Given the description of an element on the screen output the (x, y) to click on. 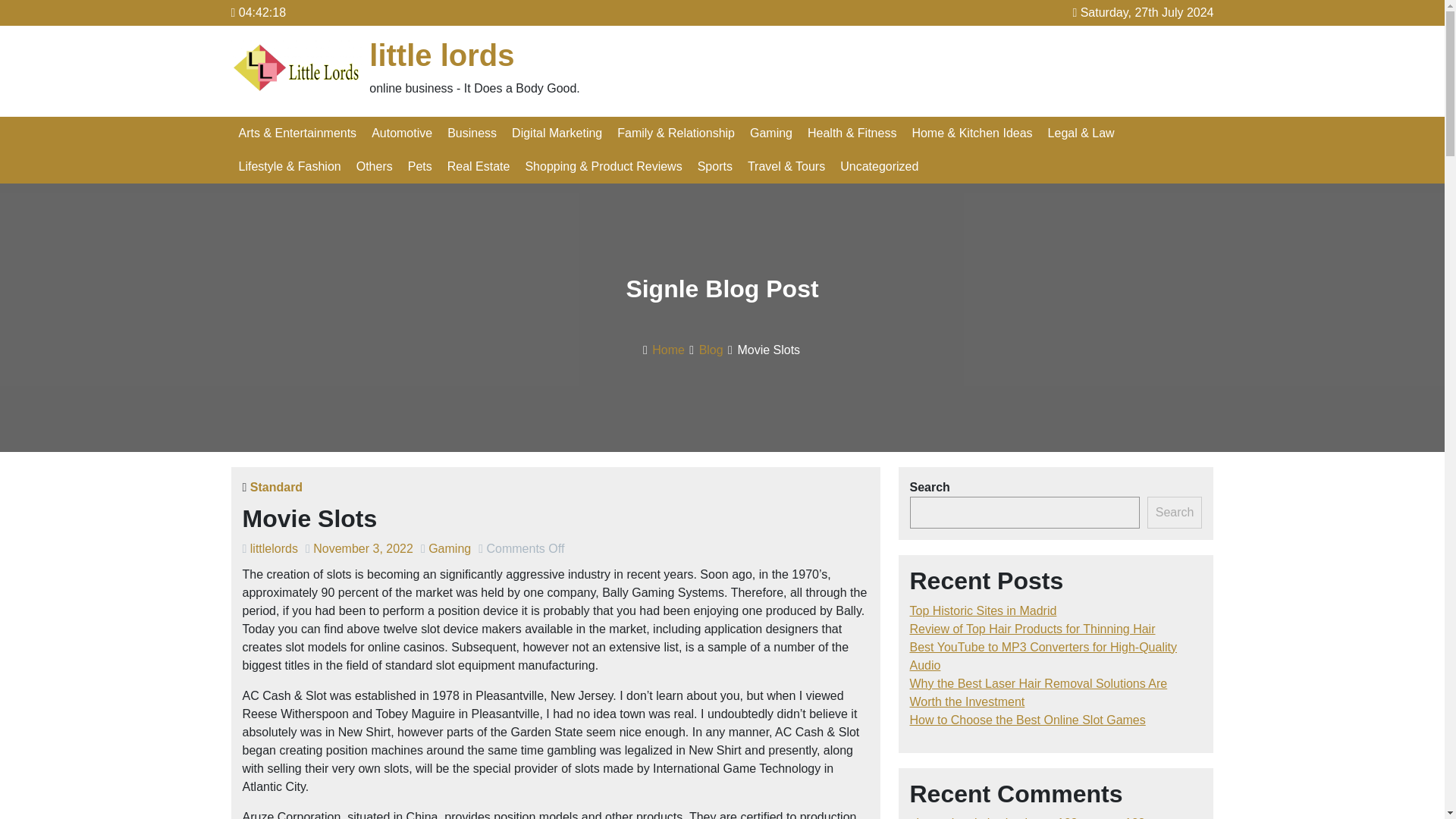
littlelords (274, 548)
Blog (710, 349)
Pets (419, 166)
tokek win (988, 817)
November 3, 2022 (363, 548)
elang win (935, 817)
Real Estate (478, 166)
Automotive (401, 133)
Sports (714, 166)
pisang 123 (1047, 817)
Home (668, 349)
Best YouTube to MP3 Converters for High-Quality Audio (1043, 655)
Gaming (770, 133)
Digital Marketing (556, 133)
